Given the description of an element on the screen output the (x, y) to click on. 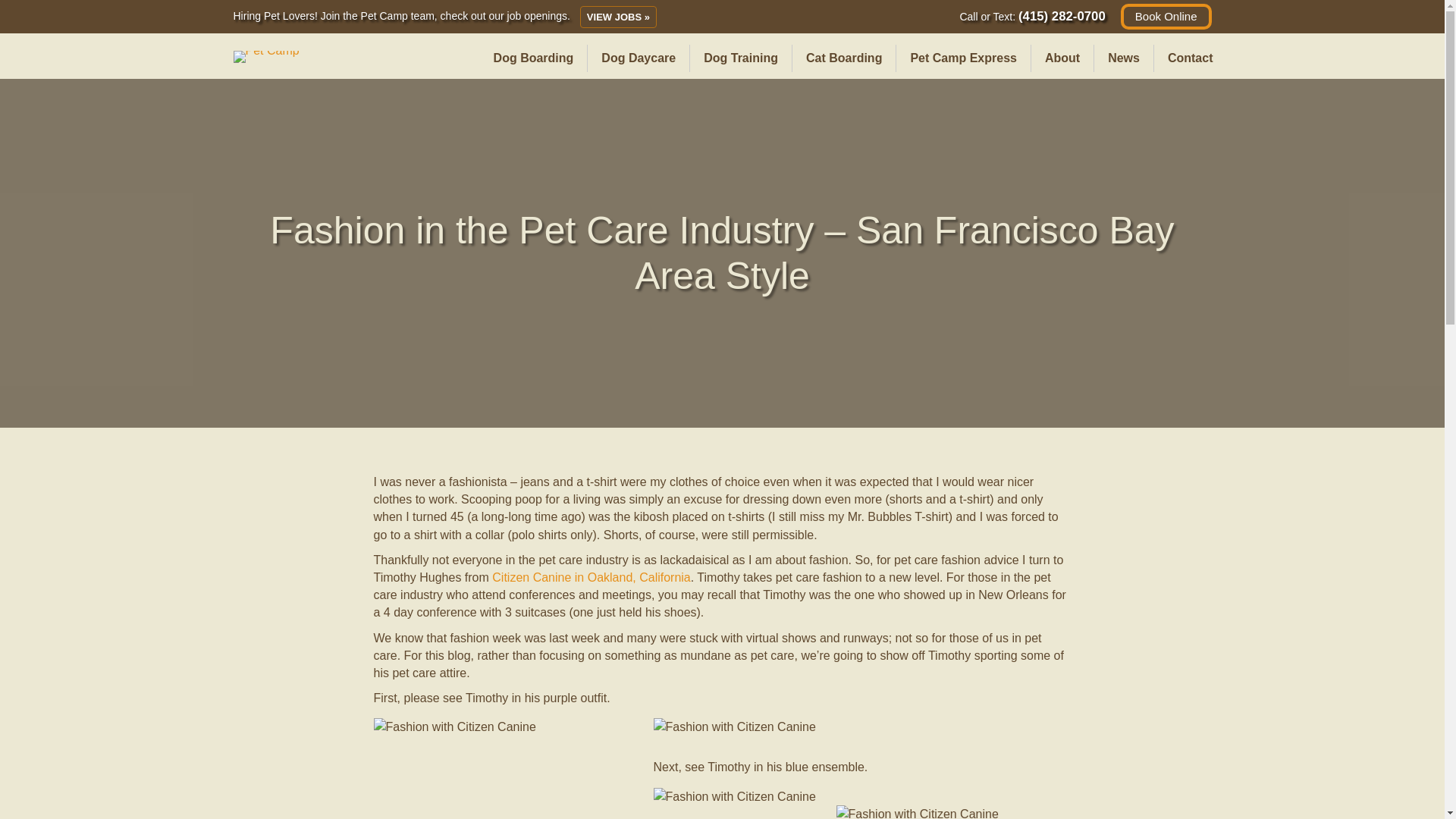
News (1123, 58)
Contact (1190, 58)
Book Online (1166, 16)
About (1061, 58)
Cat Boarding (843, 58)
Pet-Camp-Logo (265, 55)
Pet Camp Express (963, 58)
Dog Training (741, 58)
Dog Daycare (638, 58)
Dog Boarding (534, 58)
